Given the description of an element on the screen output the (x, y) to click on. 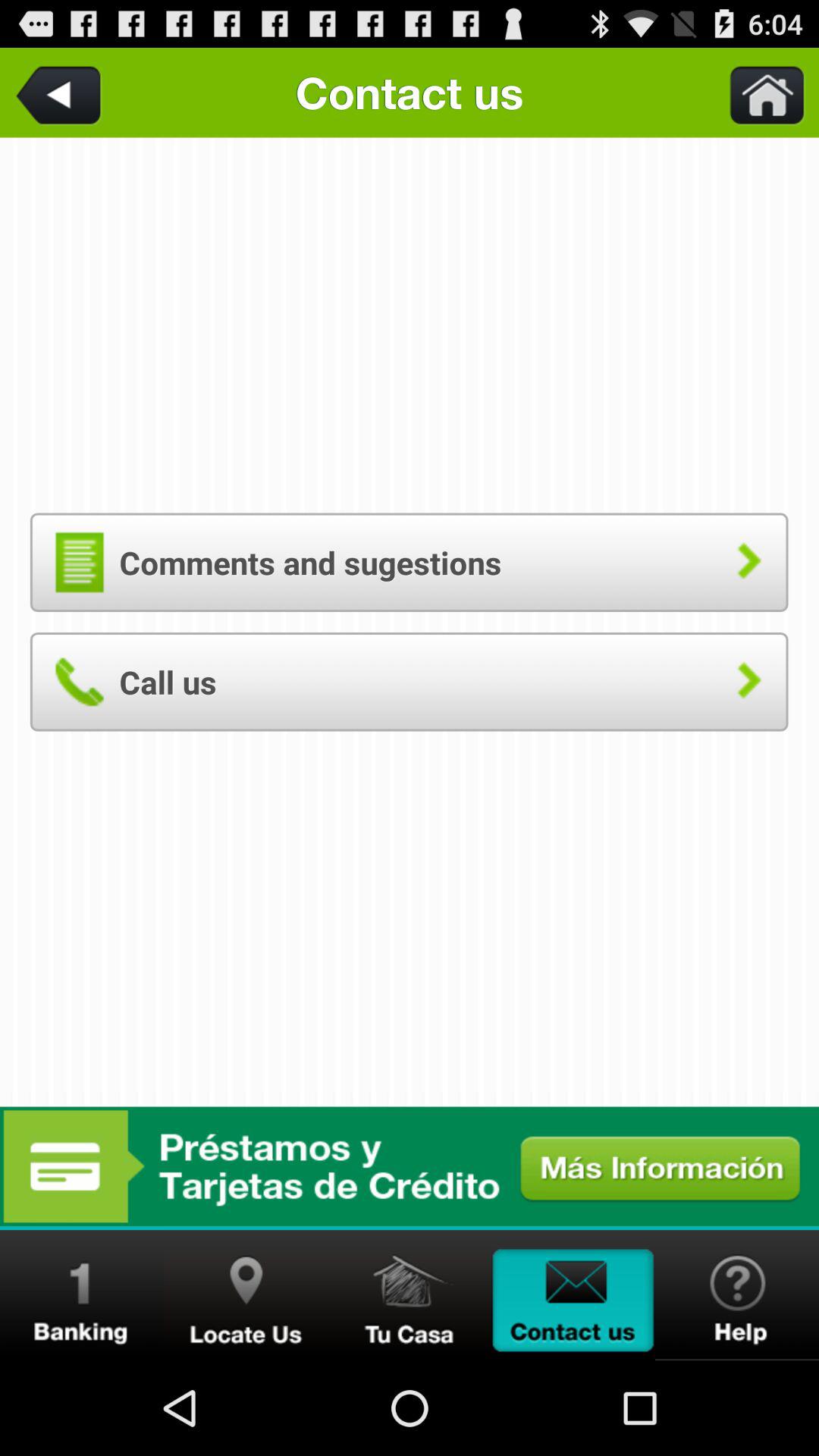
banking information option (81, 1295)
